Given the description of an element on the screen output the (x, y) to click on. 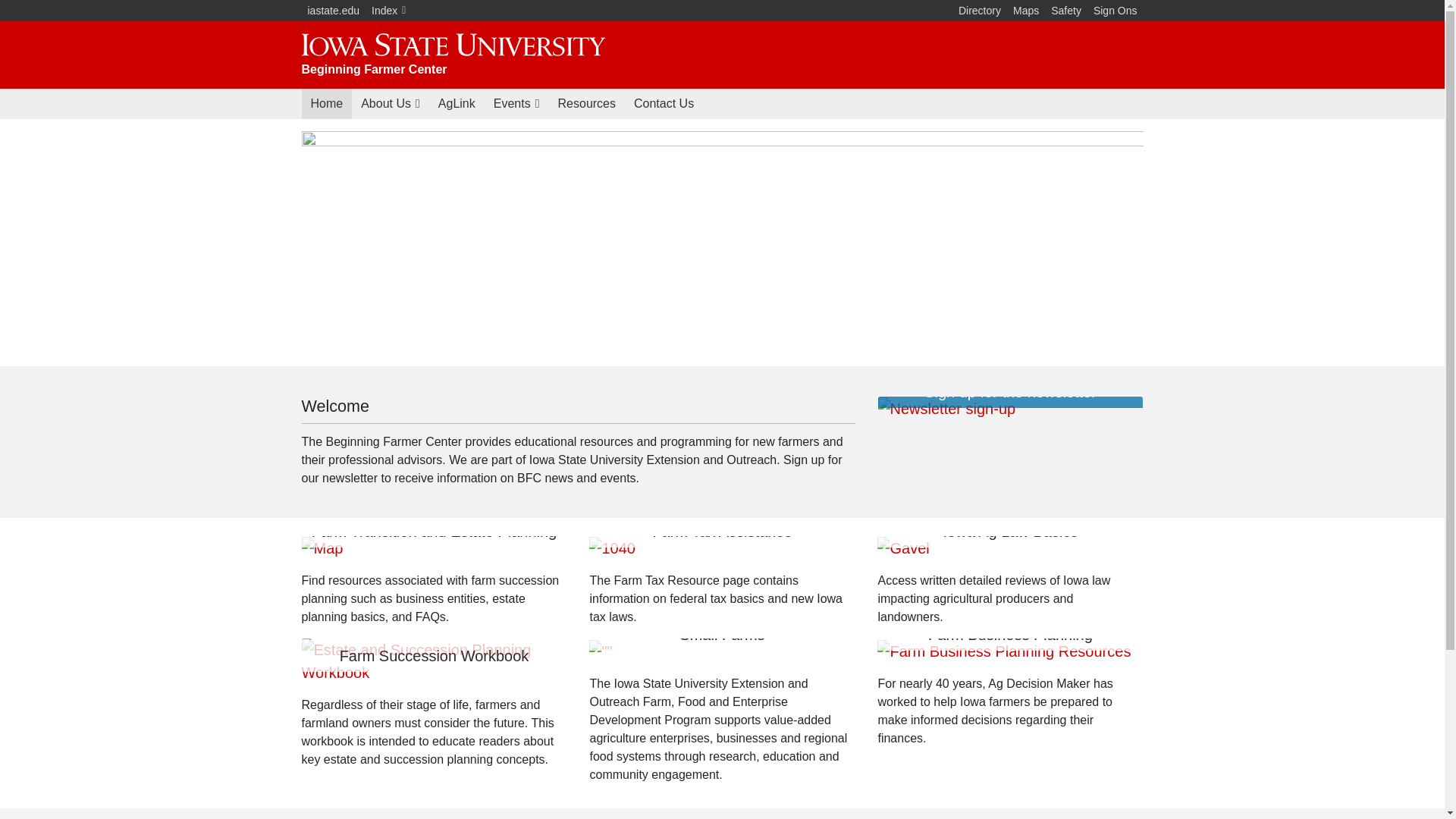
Iowa State University Home Page (333, 10)
About Us (390, 103)
AgLink (456, 103)
Index (388, 10)
Directory (979, 10)
Home (326, 103)
Sign Ons (1114, 10)
Safety (1066, 10)
Beginning Farmer Center (373, 69)
